Given the description of an element on the screen output the (x, y) to click on. 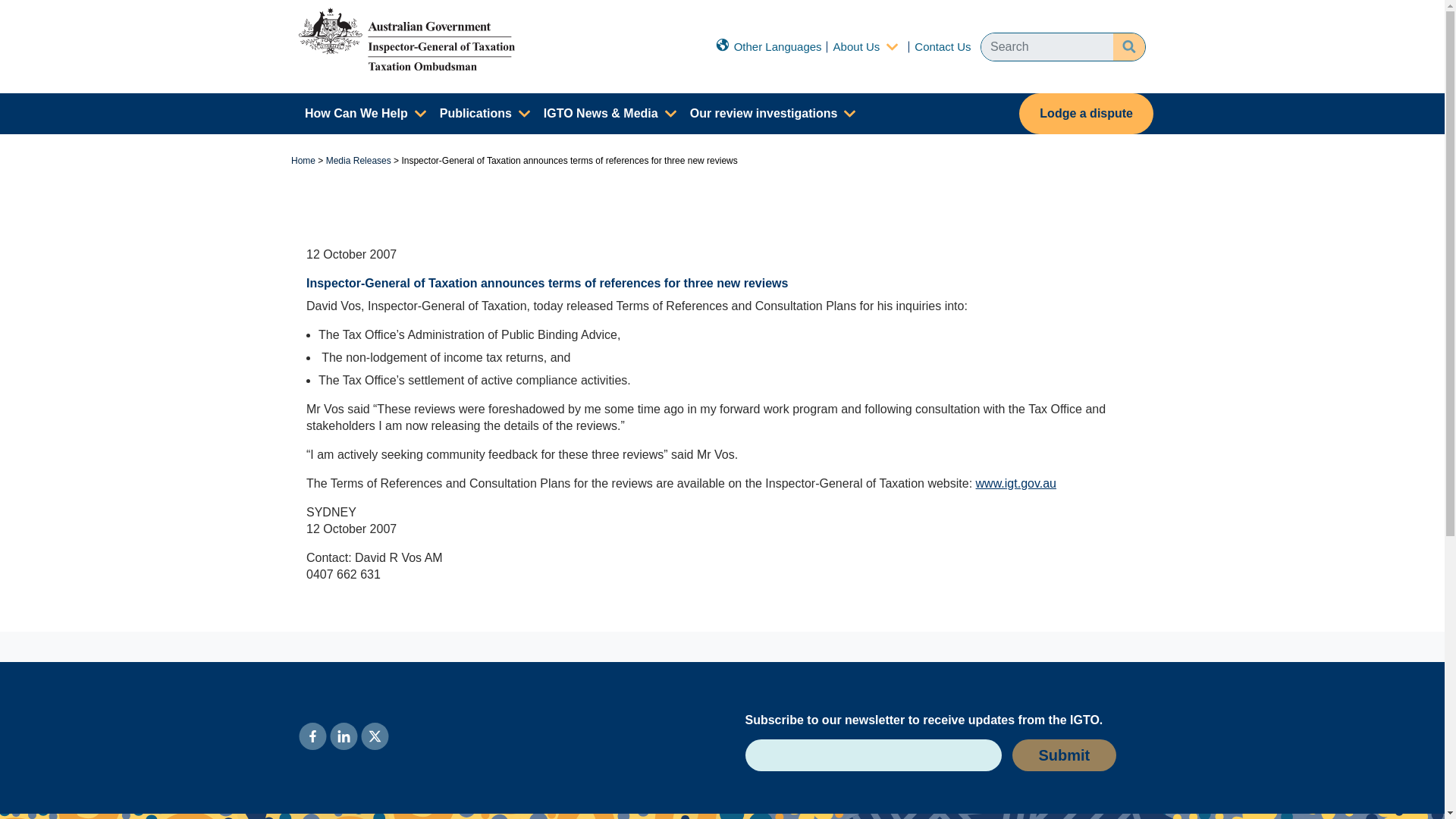
Submit (1063, 755)
About Us (856, 45)
Contact Us (942, 45)
IGTO (406, 38)
Other Languages (768, 45)
